Given the description of an element on the screen output the (x, y) to click on. 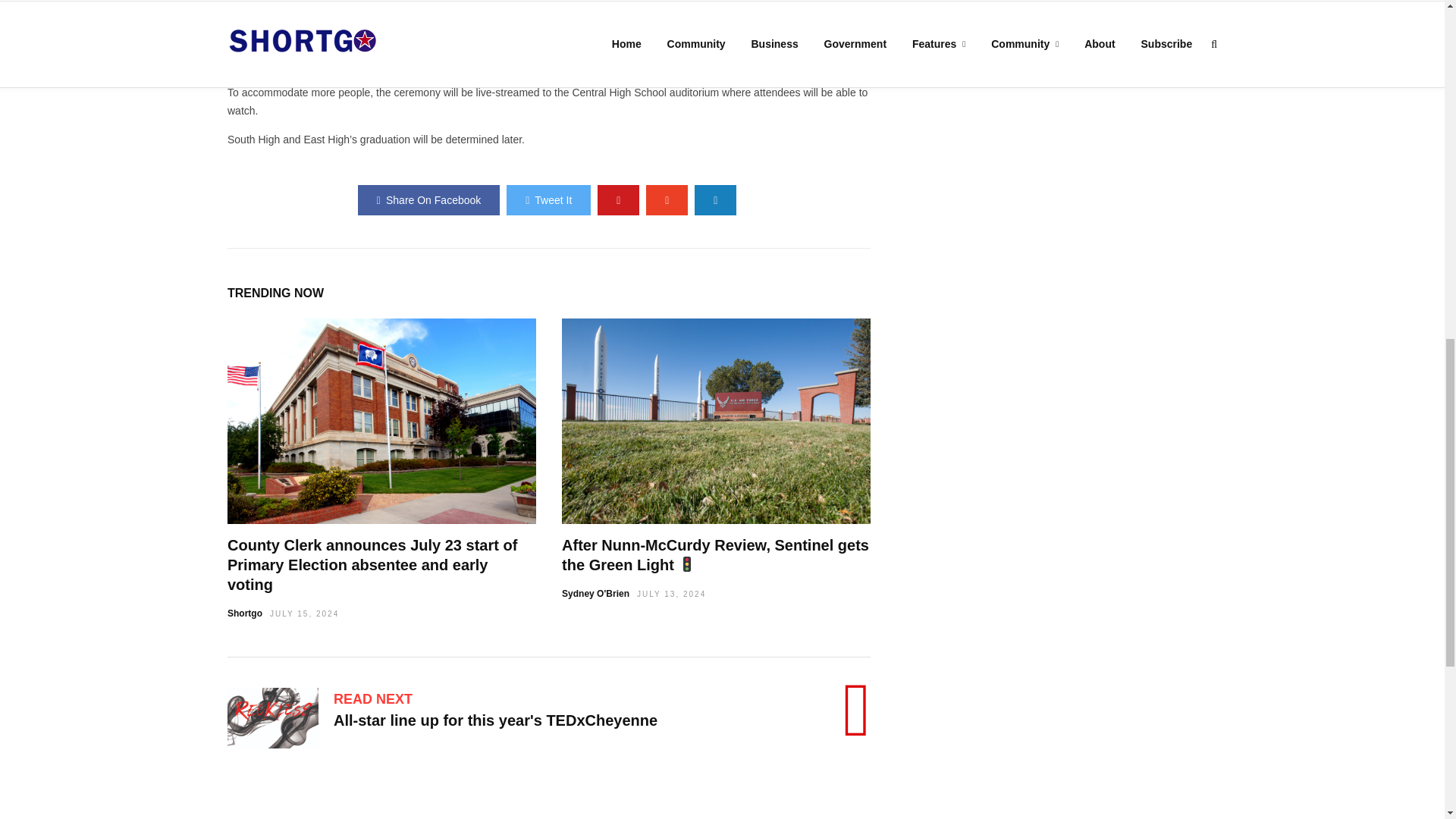
Share by Email (715, 200)
Share On Facebook (428, 200)
Share On Facebook (428, 200)
Share On Pinterest (617, 200)
Share On Twitter (548, 200)
